Given the description of an element on the screen output the (x, y) to click on. 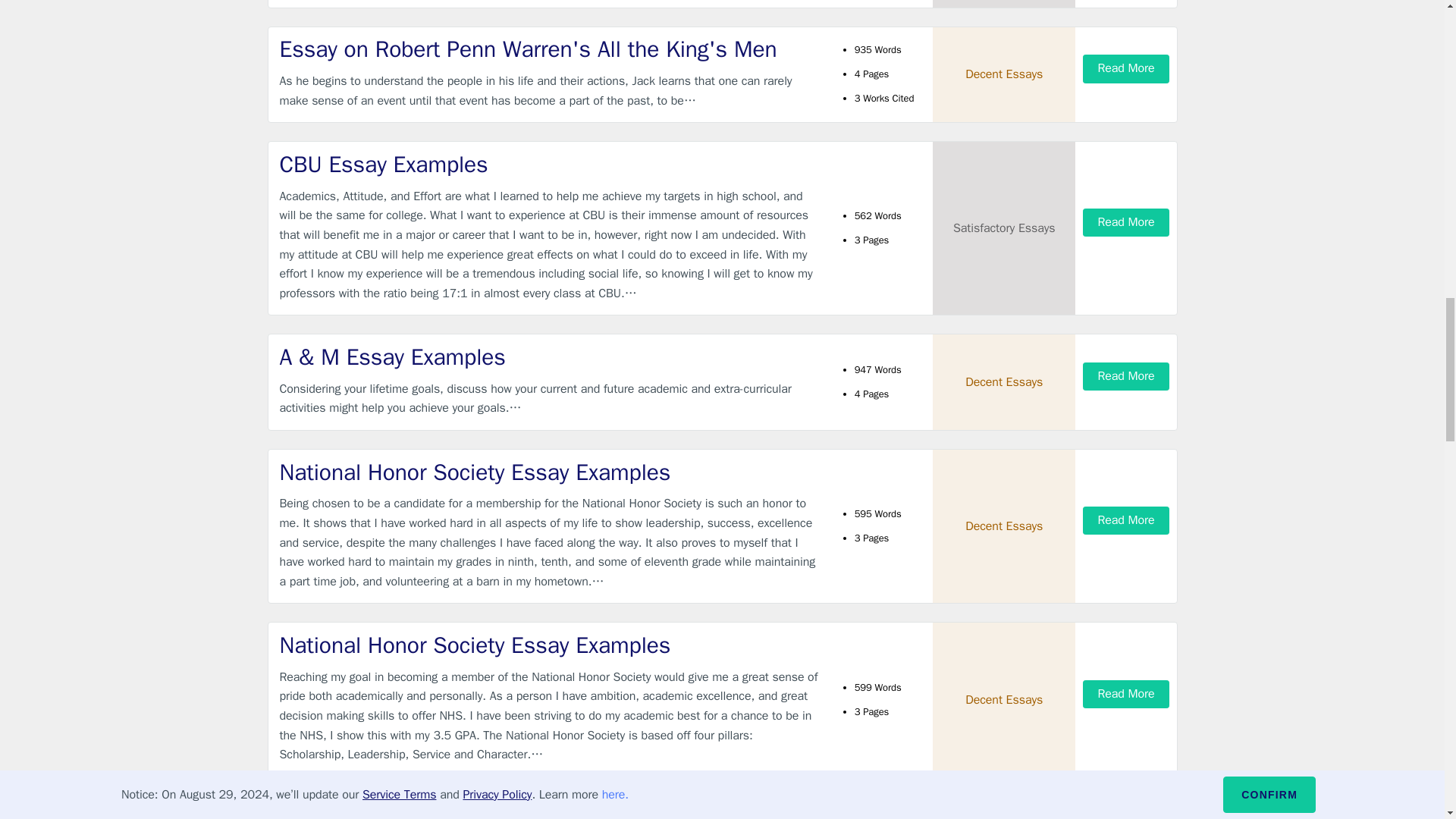
Read More (1126, 68)
Essay on Robert Penn Warren's All the King's Men (548, 49)
National Honor Society Essay Examples (548, 644)
National Honor Society Essay Examples (548, 472)
CBU Essay Examples (548, 164)
Read More (1126, 376)
Read More (1126, 222)
Read More (1126, 520)
Read More (1126, 694)
